Given the description of an element on the screen output the (x, y) to click on. 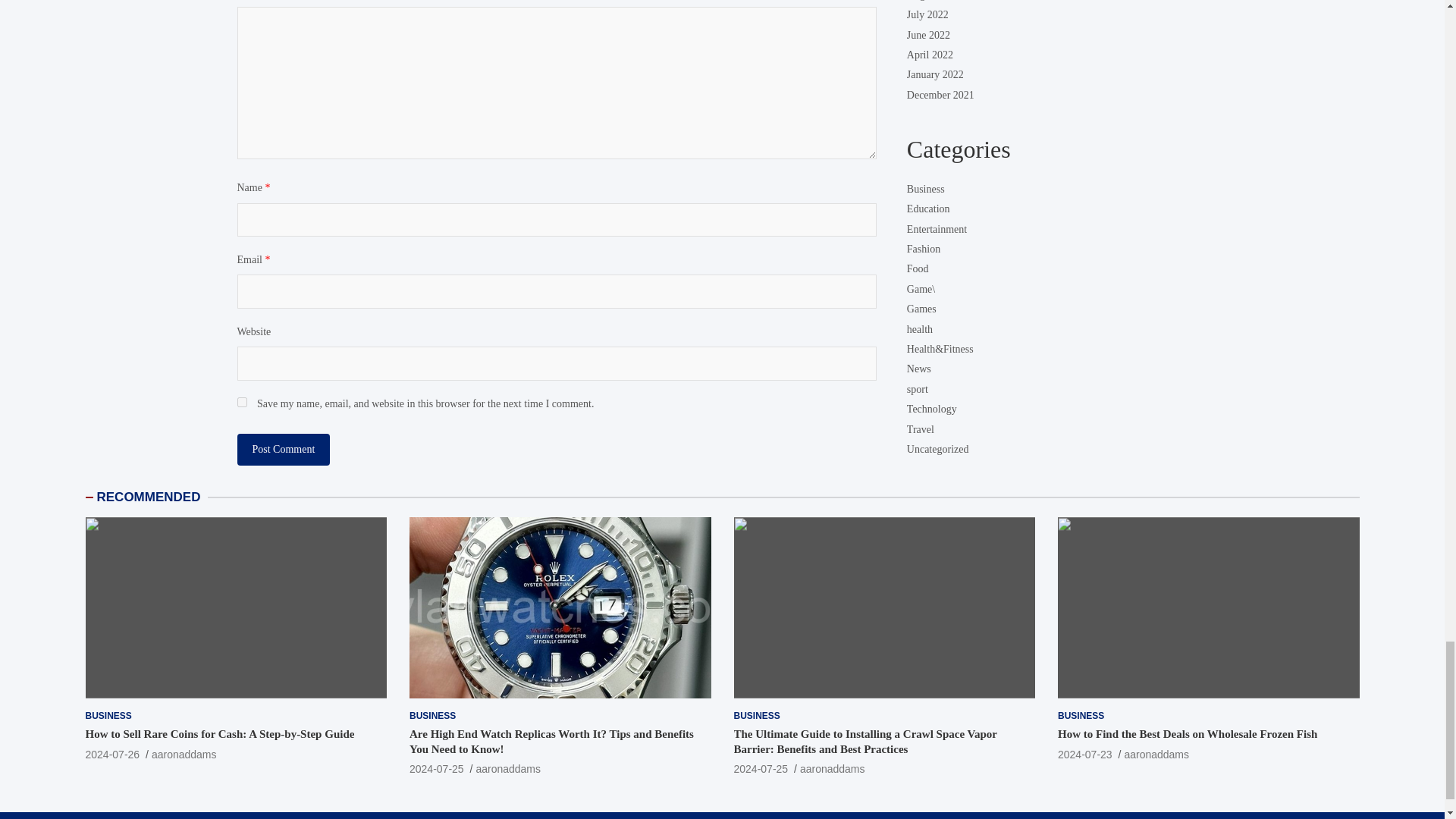
How to Find the Best Deals on Wholesale Frozen Fish (1085, 754)
yes (240, 402)
Post Comment (282, 450)
How to Sell Rare Coins for Cash: A Step-by-Step Guide (111, 754)
Post Comment (282, 450)
